Given the description of an element on the screen output the (x, y) to click on. 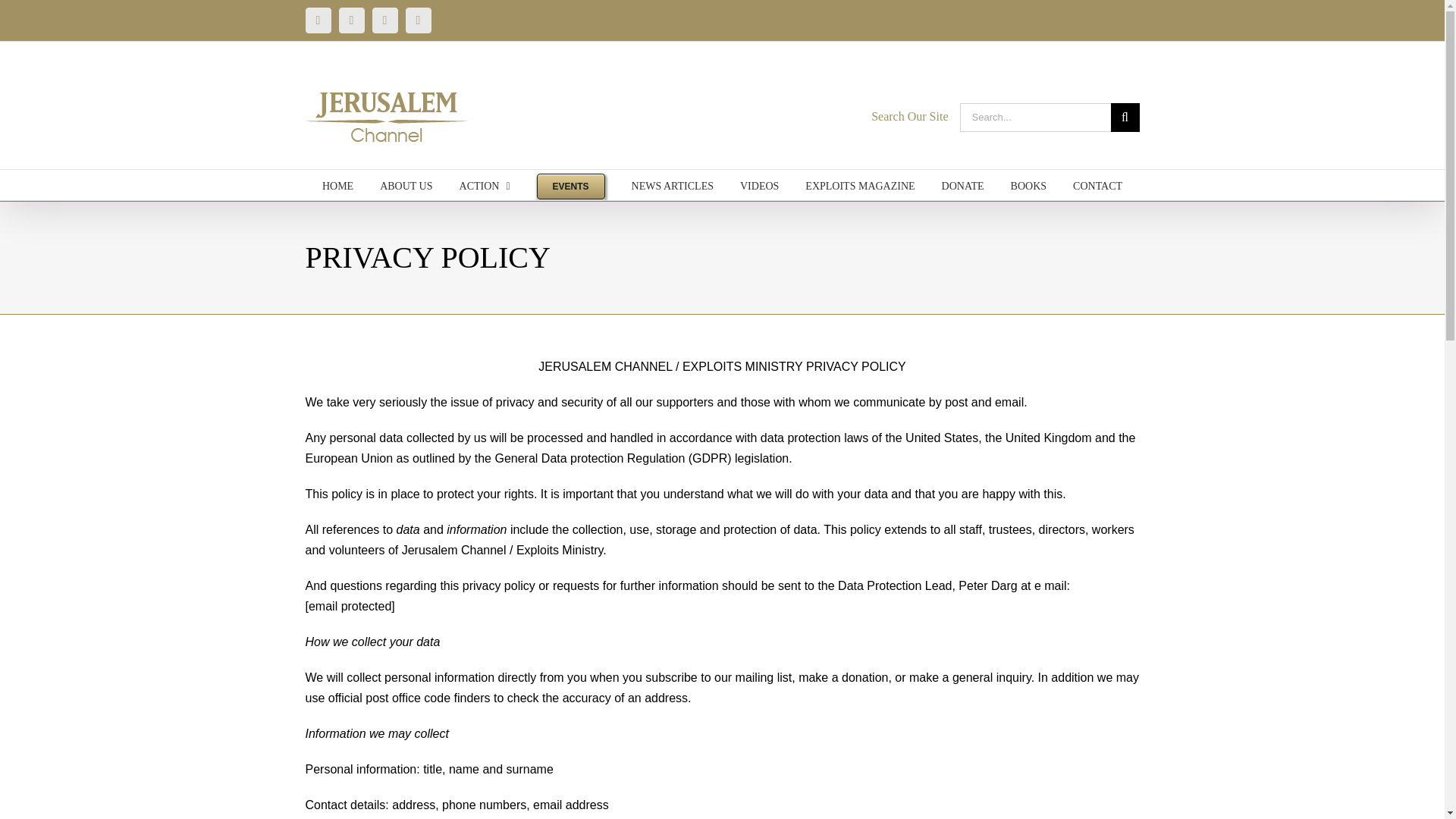
DONATE (963, 184)
CONTACT (1097, 184)
ABOUT US (406, 184)
Vimeo (384, 20)
X (417, 20)
VIDEOS (758, 184)
ACTION (485, 184)
BOOKS (1028, 184)
EXPLOITS MAGAZINE (859, 184)
YouTube (317, 20)
